Given the description of an element on the screen output the (x, y) to click on. 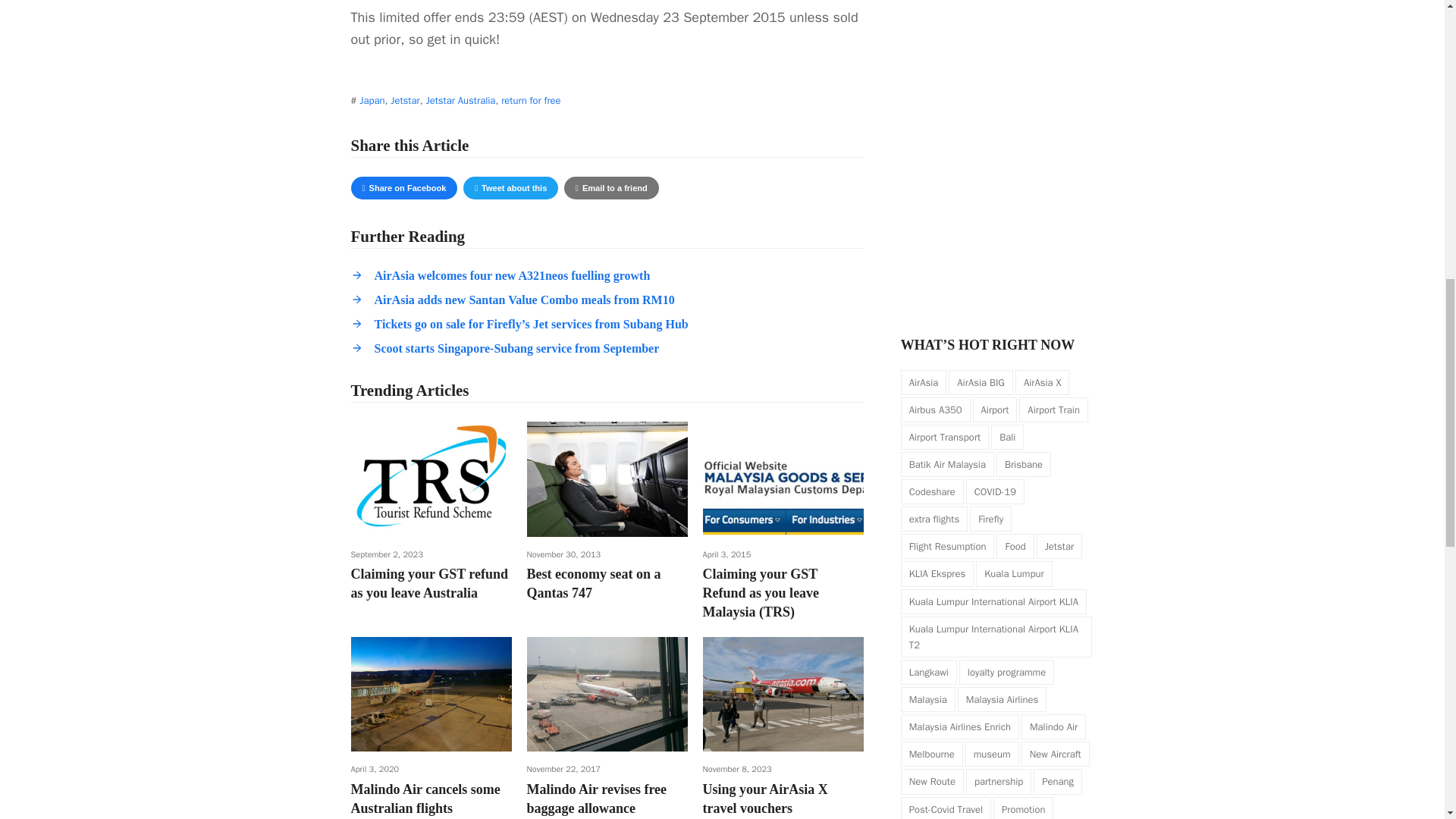
return for free (530, 100)
Share on Facebook (403, 187)
AirAsia welcomes four new A321neos fuelling growth (512, 275)
Jetstar (404, 100)
Scoot starts Singapore-Subang service from September (516, 348)
Jetstar Australia (460, 100)
Email to a friend (611, 187)
Japan (371, 100)
AirAsia adds new Santan Value Combo meals from RM10 (524, 299)
Tweet about this (510, 187)
